Given the description of an element on the screen output the (x, y) to click on. 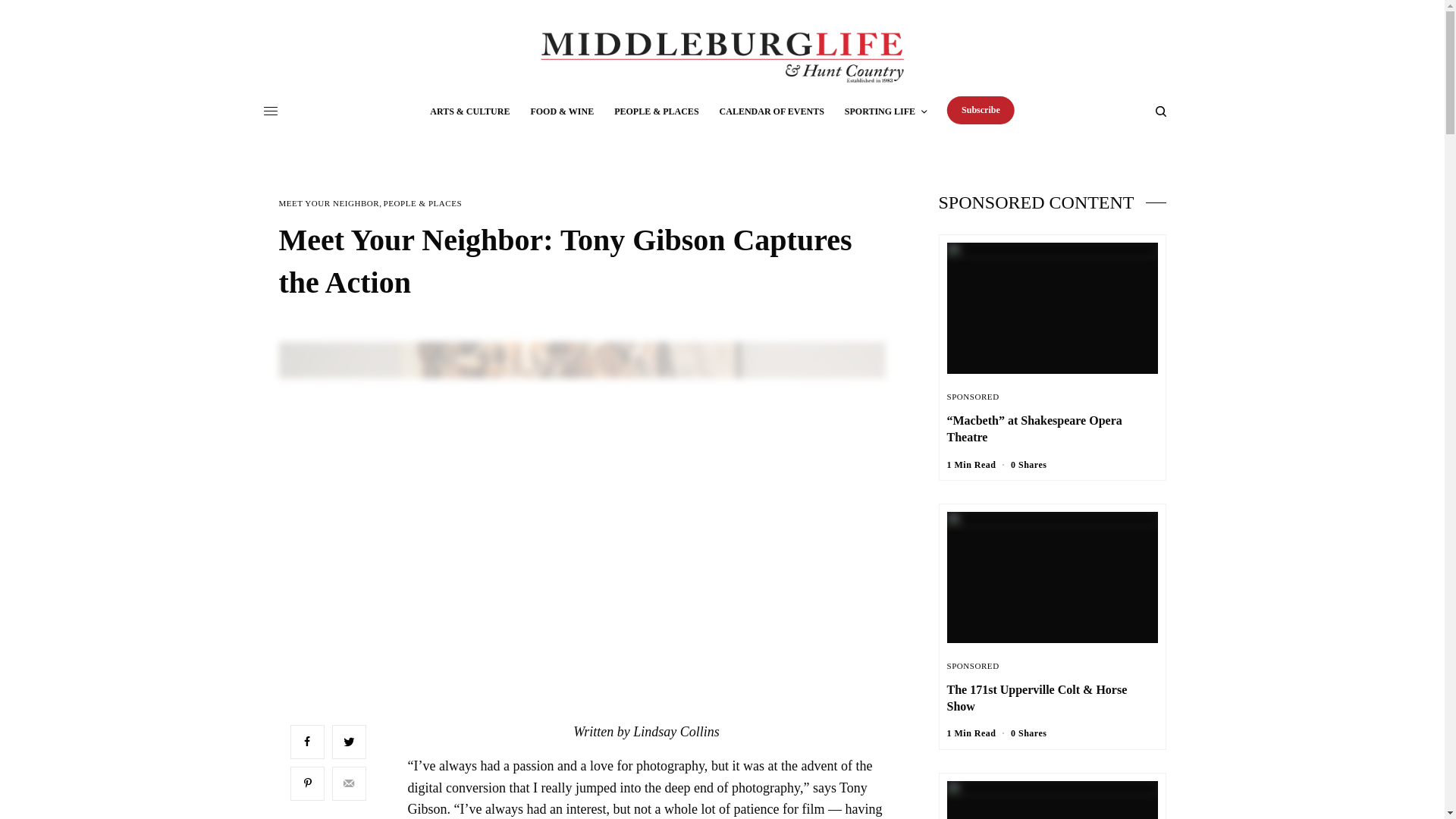
Subscribe (980, 110)
MEET YOUR NEIGHBOR (329, 203)
CALENDAR OF EVENTS (771, 111)
SPORTING LIFE (885, 111)
Middleburg Life (721, 57)
